Given the description of an element on the screen output the (x, y) to click on. 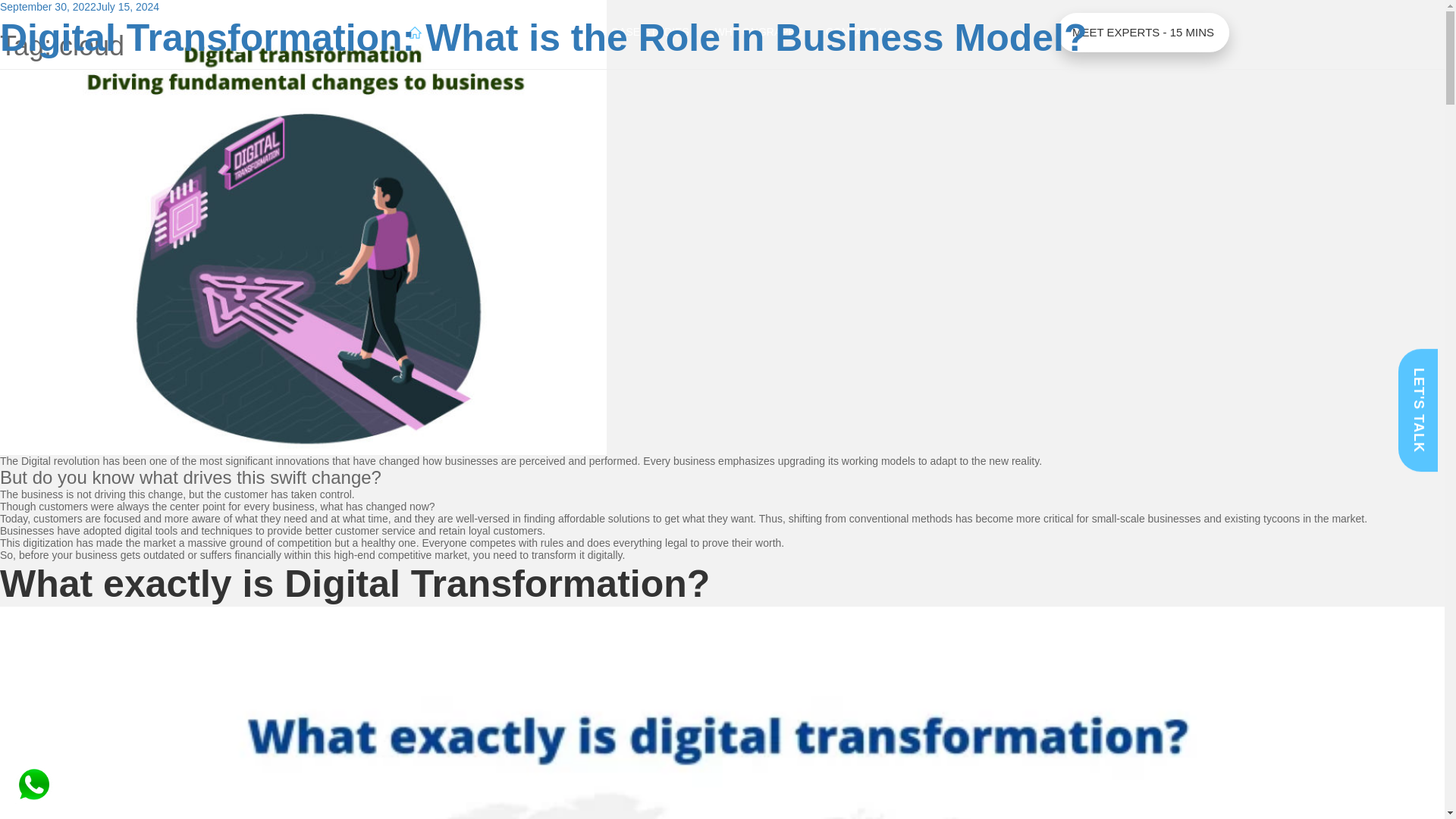
SOLUTION (557, 32)
What exactly is Digital Transformation? (355, 583)
SERVICES (474, 32)
